Given the description of an element on the screen output the (x, y) to click on. 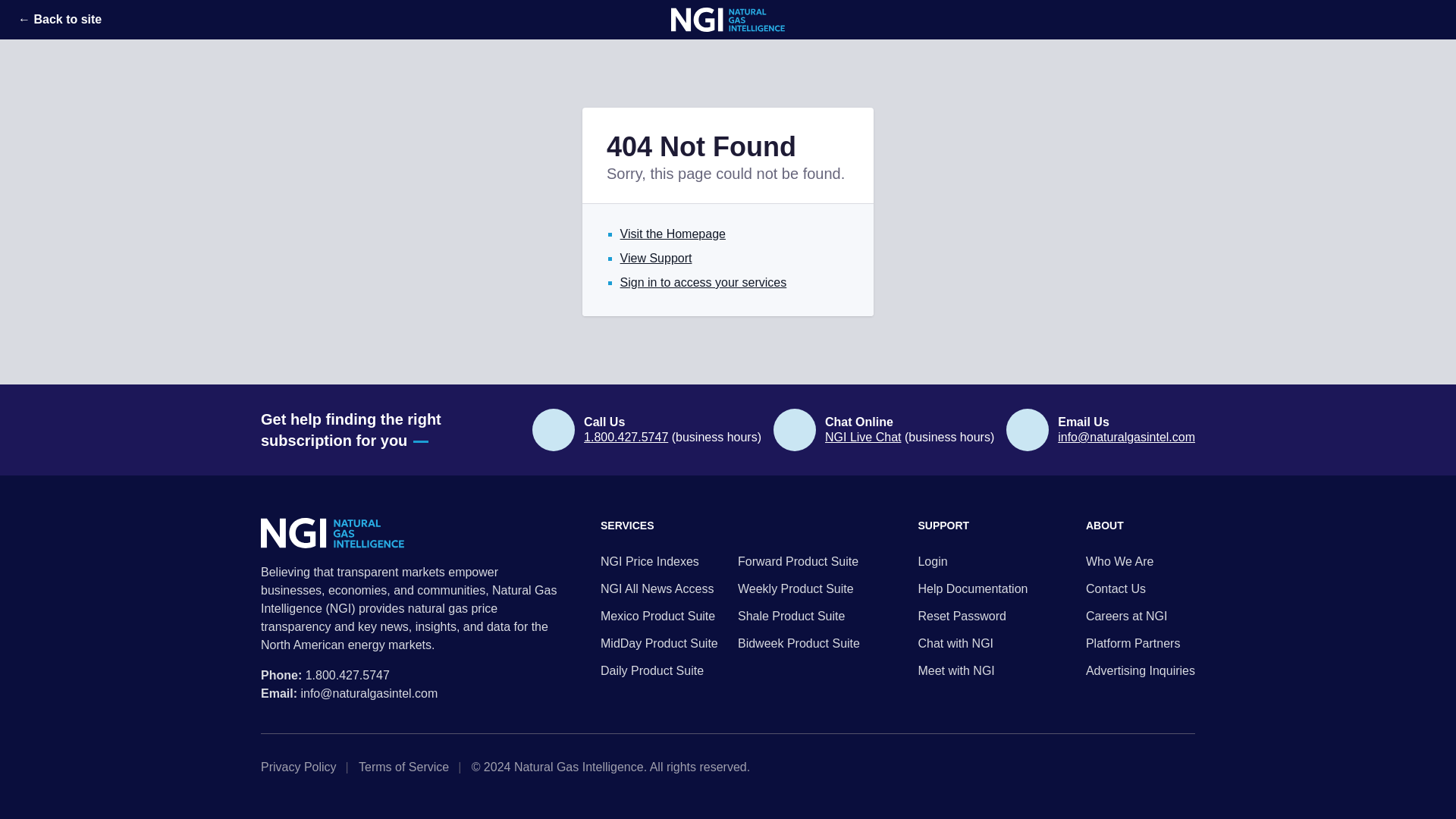
Shale Product Suite (799, 616)
Chat with NGI (972, 643)
Mexico Product Suite (660, 616)
1.800.427.5747 (347, 675)
Advertising Inquiries (1140, 670)
X (1140, 766)
Reset Password (972, 616)
Terms of Service (408, 766)
NGI All News Access (660, 588)
Bidweek Product Suite (799, 643)
NGI Price Indexes (660, 561)
Facebook (1188, 766)
Forward Product Suite (799, 561)
Privacy Policy (303, 766)
Login (972, 561)
